Given the description of an element on the screen output the (x, y) to click on. 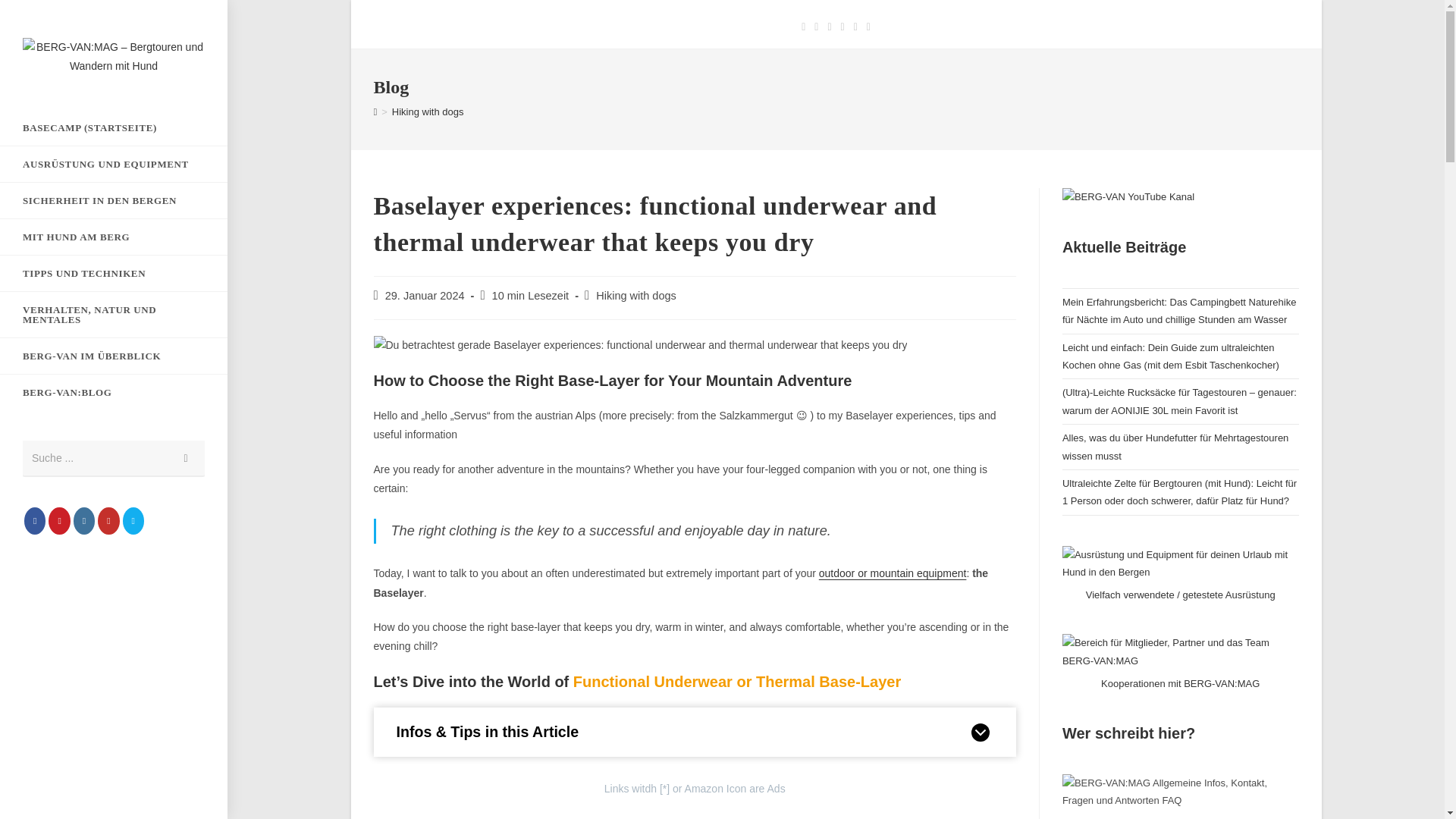
TIPPS UND TECHNIKEN (113, 273)
MIT HUND AM BERG (113, 236)
VERHALTEN, NATUR UND MENTALES (113, 314)
SICHERHEIT IN DEN BERGEN (113, 200)
